Given the description of an element on the screen output the (x, y) to click on. 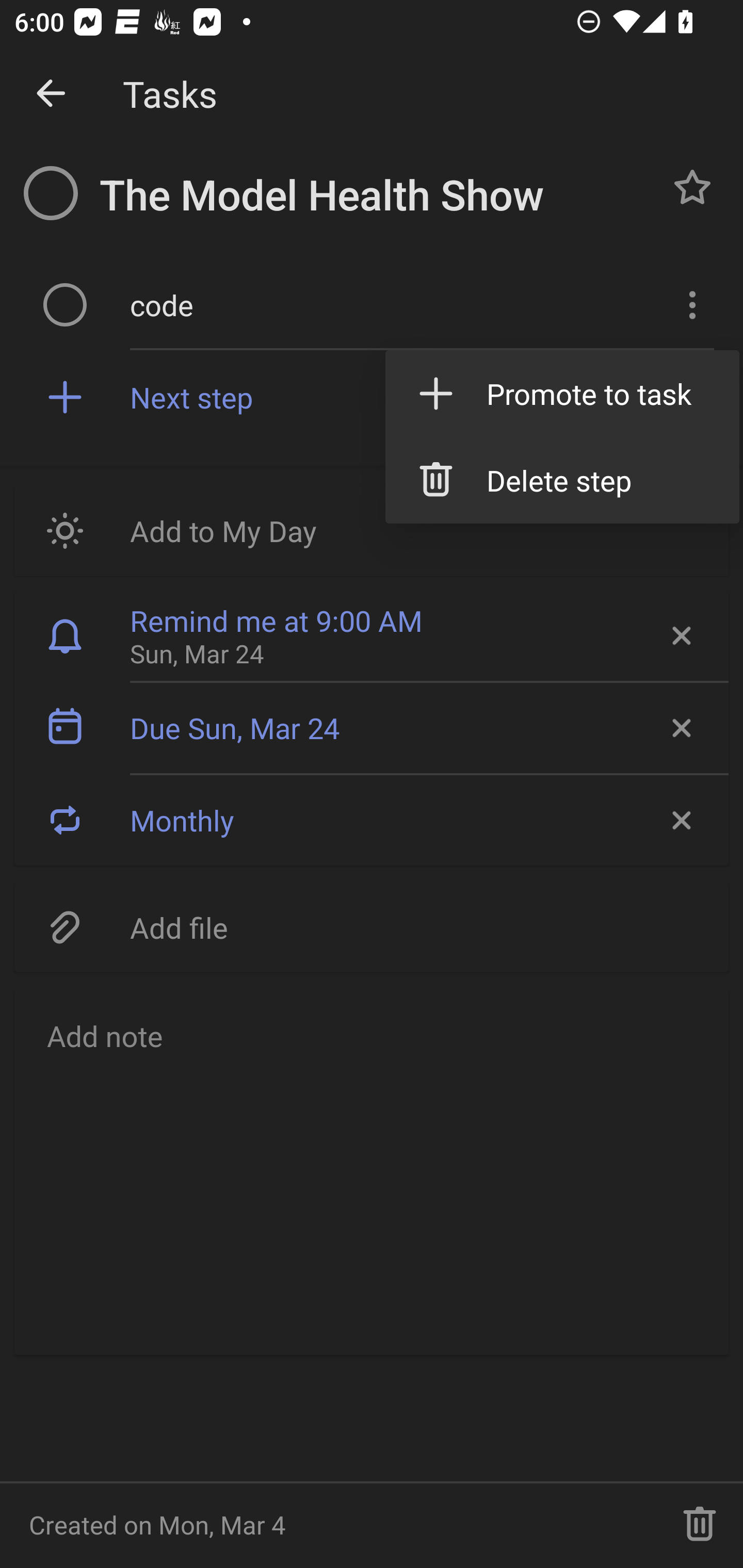
Promote to task (562, 393)
Delete step (562, 480)
